Given the description of an element on the screen output the (x, y) to click on. 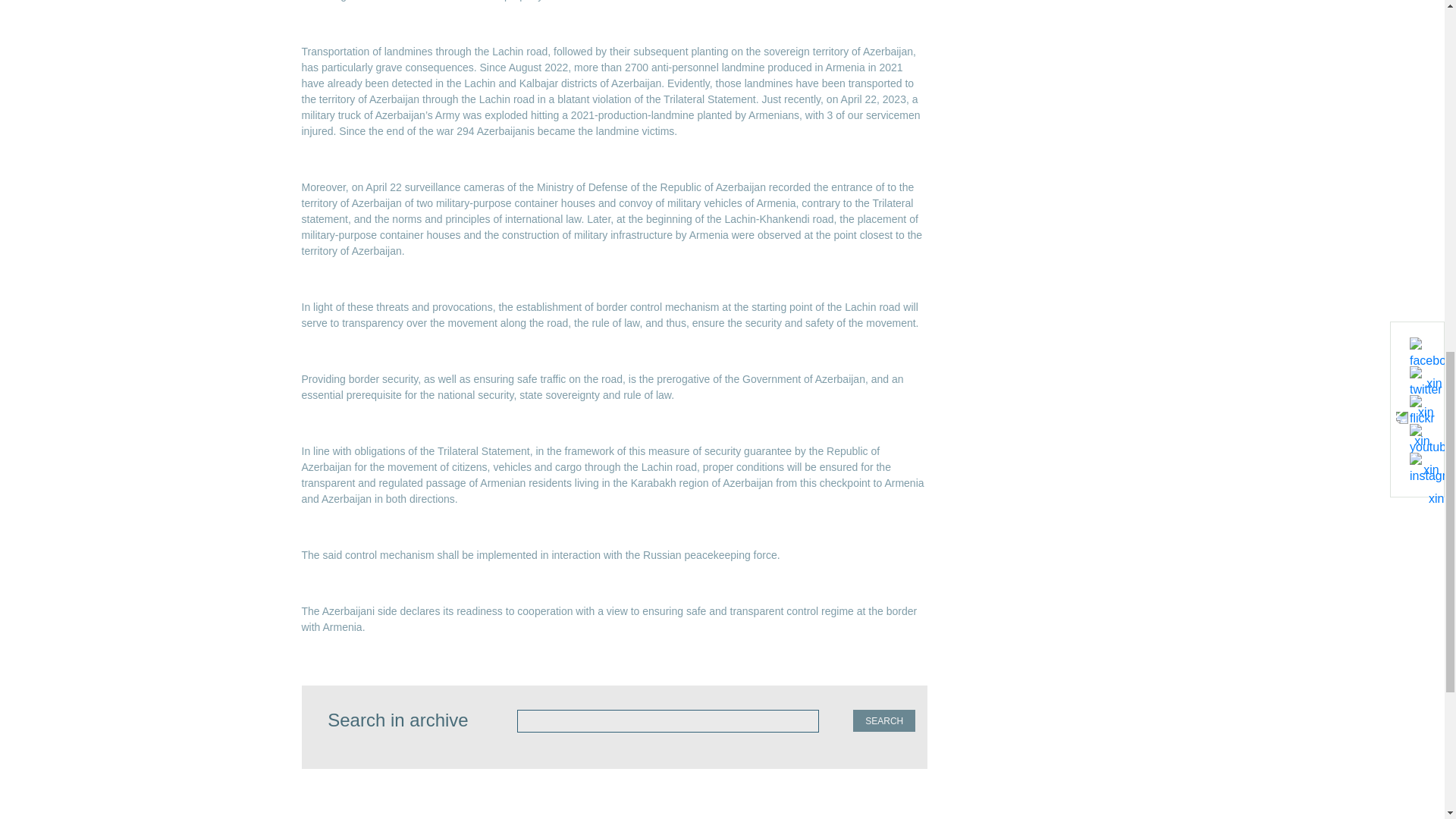
SEARCH (884, 721)
